Given the description of an element on the screen output the (x, y) to click on. 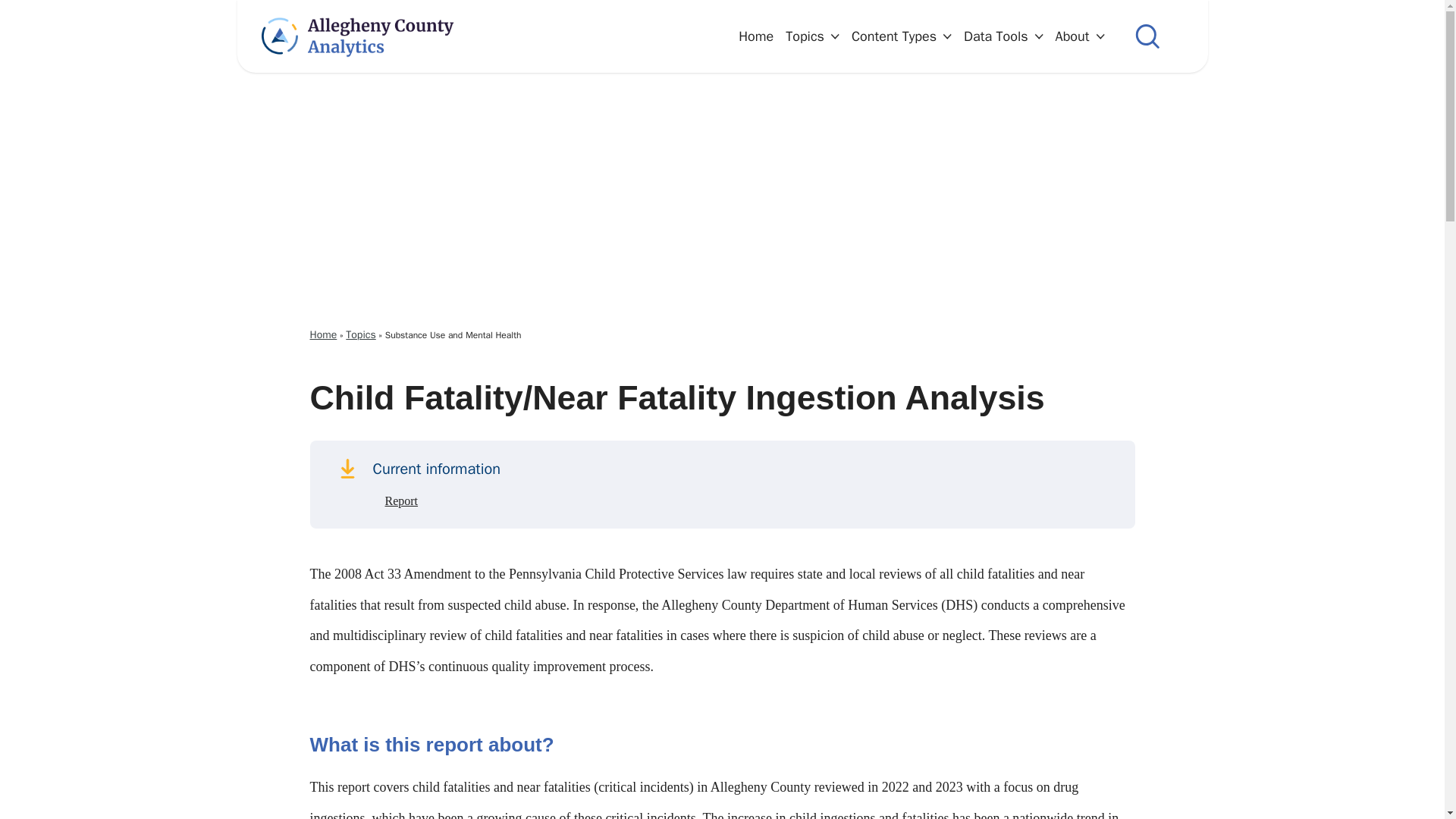
Topics (813, 35)
Home (755, 35)
